Given the description of an element on the screen output the (x, y) to click on. 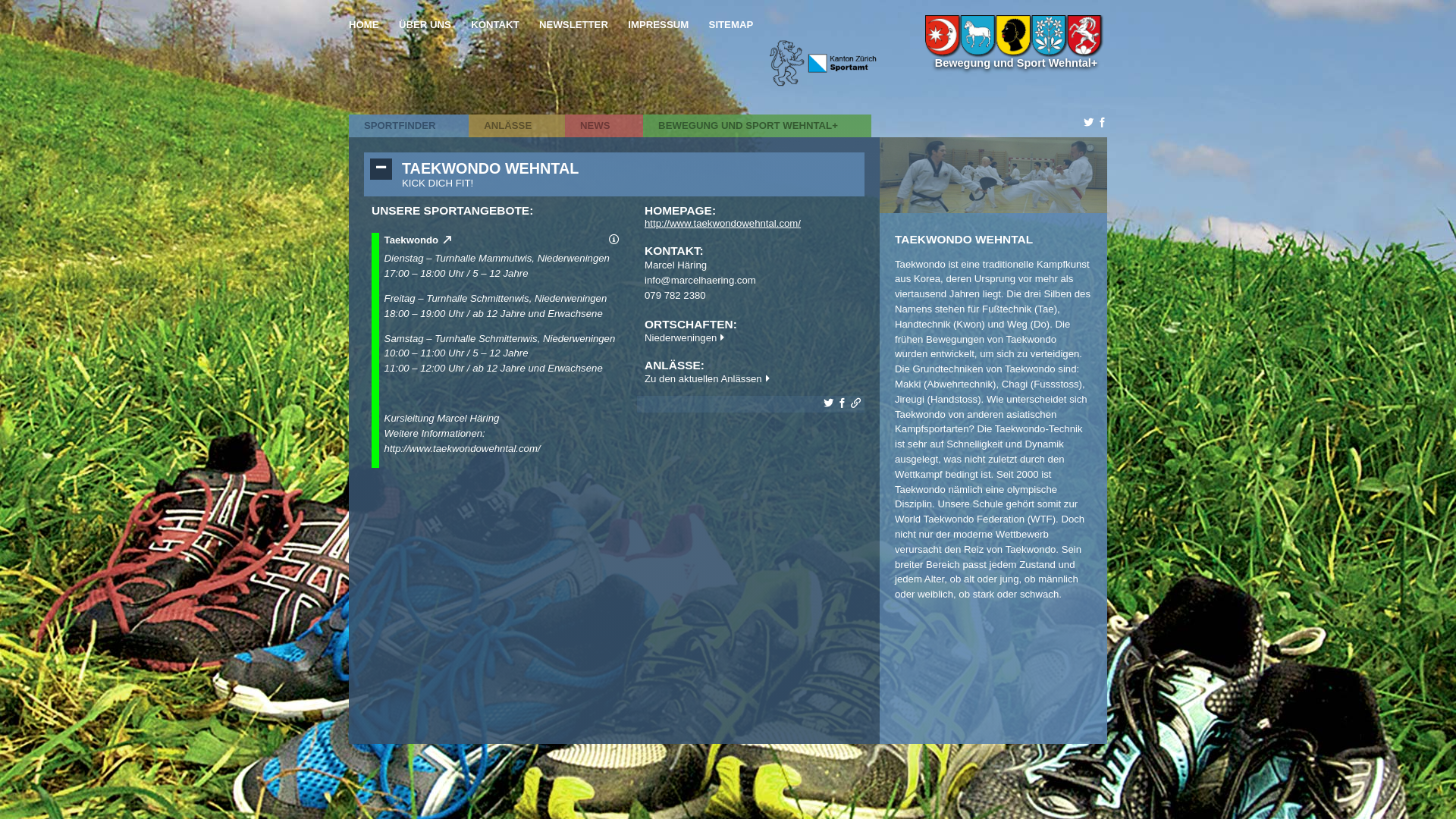
Niederweningen Element type: text (684, 337)
KONTAKT Element type: text (494, 24)
Twitter Element type: hover (1088, 122)
Bewegung und Sport Wehntal+ Element type: text (1016, 62)
NEWSLETTER Element type: text (573, 24)
NEWS Element type: text (603, 125)
Taekwondo Element type: text (417, 239)
Twitter Element type: hover (828, 402)
SPORTFINDER Element type: text (408, 125)
Facebook Element type: hover (1102, 122)
IMPRESSUM Element type: text (657, 24)
HOME Element type: text (363, 24)
Statischer Link Element type: hover (855, 402)
Facebook Element type: hover (842, 402)
SITEMAP Element type: text (731, 24)
BEWEGUNG UND SPORT WEHNTAL+ Element type: text (757, 125)
http://www.taekwondowehntal.com/ Element type: text (722, 223)
